Given the description of an element on the screen output the (x, y) to click on. 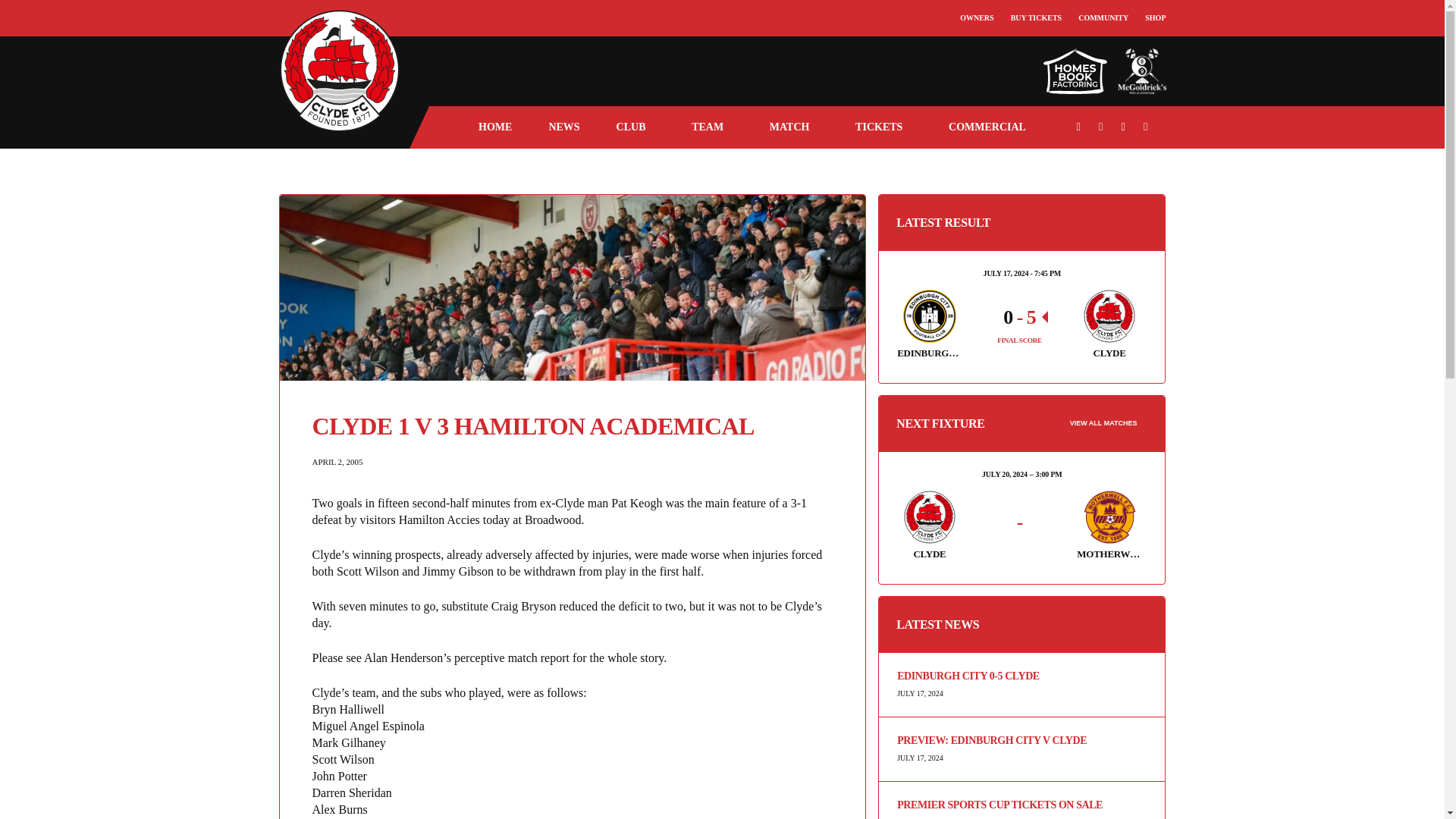
CLUB (636, 127)
Motherwell (1109, 516)
OWNERS (975, 18)
HOME (494, 127)
MATCH (794, 127)
Edinburgh City 0-5 Clyde (1021, 675)
BUY TICKETS (1036, 18)
NEWS (562, 127)
PREVIEW: Edinburgh City v Clyde (1021, 740)
COMMERCIAL (992, 127)
Premier Sports Cup Tickets On Sale (1021, 805)
Clyde (929, 516)
TICKETS (883, 127)
TEAM (711, 127)
COMMUNITY (1103, 18)
